Given the description of an element on the screen output the (x, y) to click on. 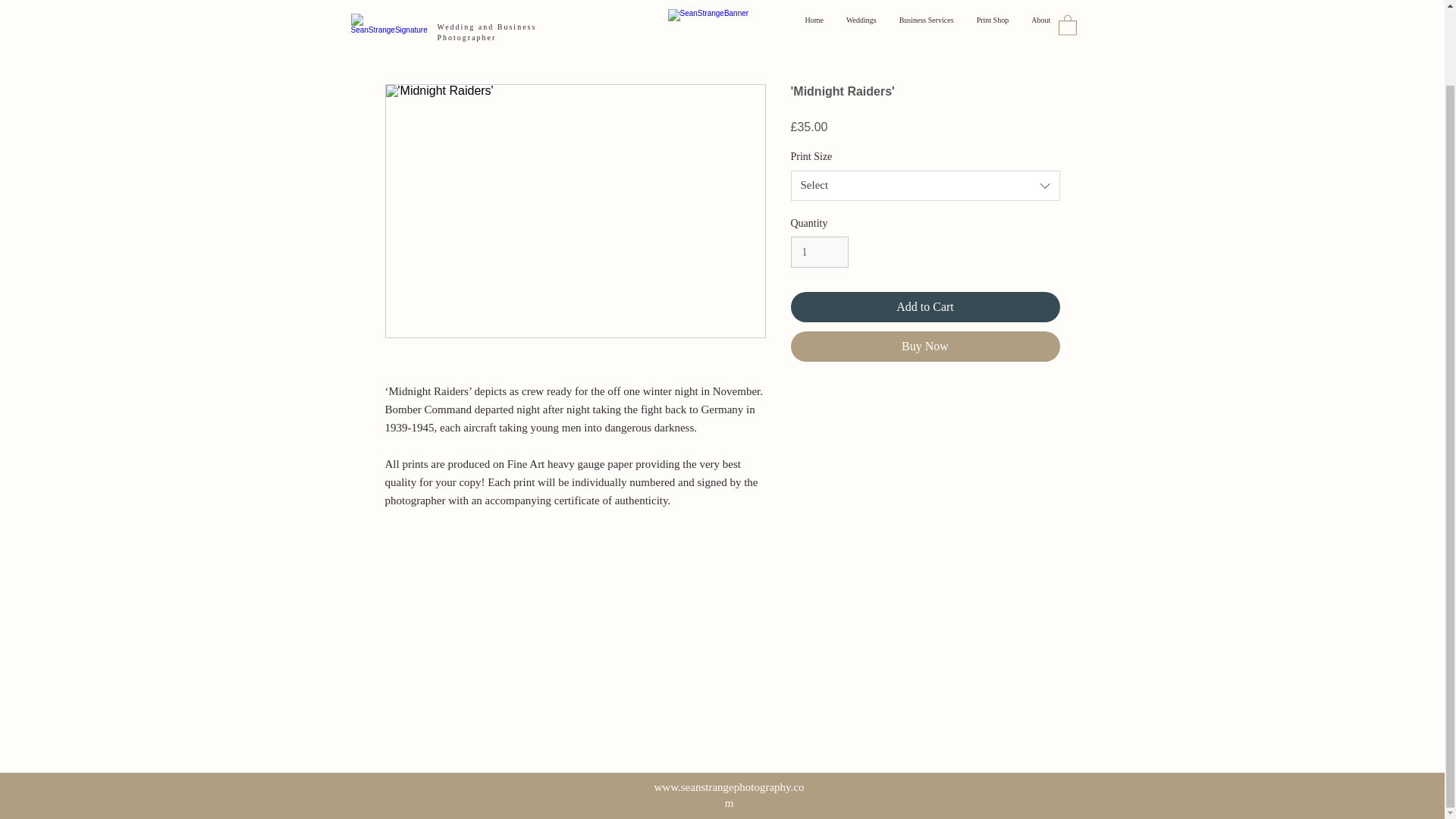
Buy Now (924, 346)
Add to Cart (924, 306)
www.seanstrangephotography.com (728, 795)
Select (924, 185)
1 (818, 251)
